Given the description of an element on the screen output the (x, y) to click on. 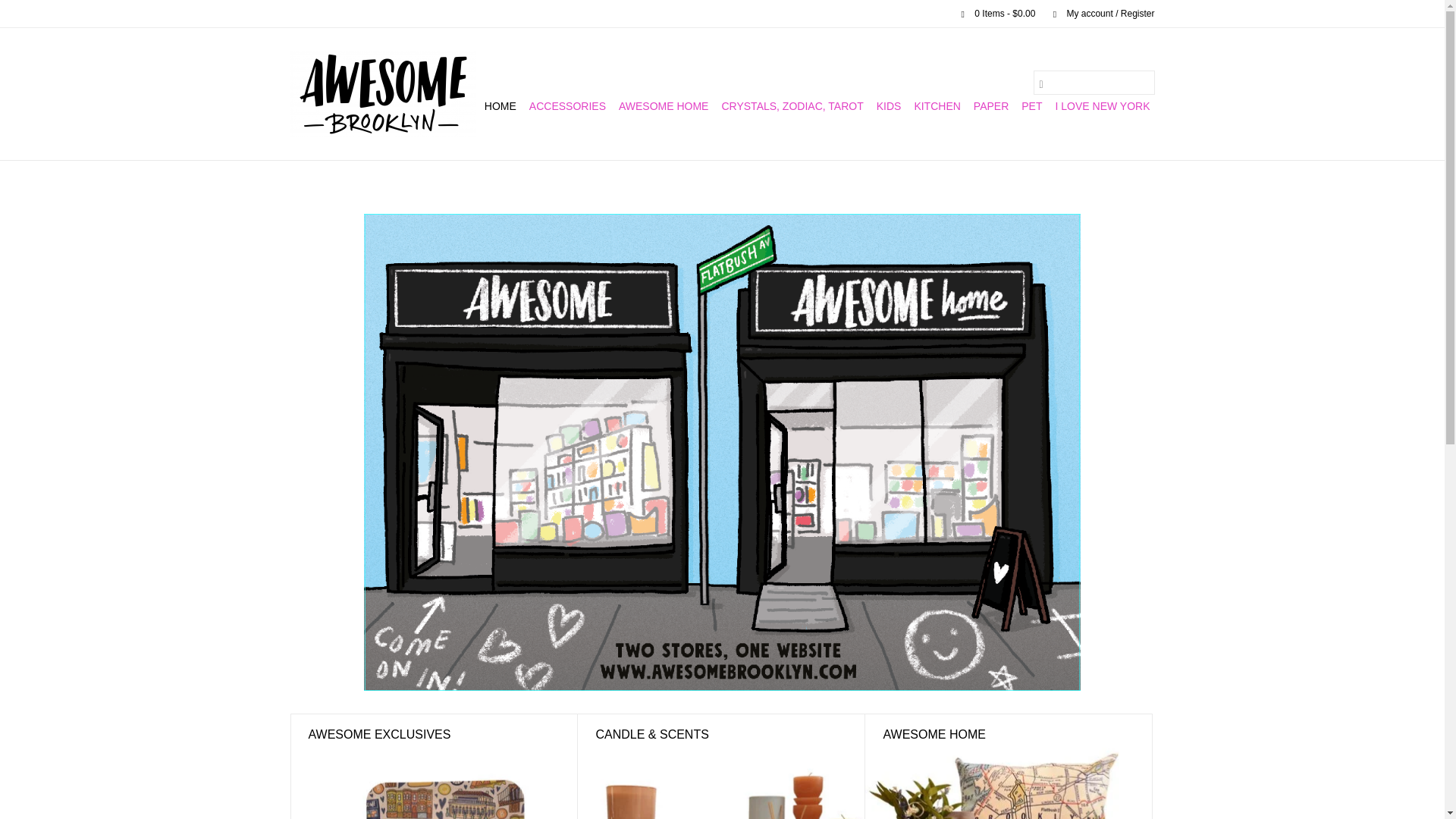
Awesome Brooklyn (382, 93)
Awesome Home (663, 105)
ACCESSORIES (567, 105)
Cart (992, 13)
HOME (500, 105)
My account (1096, 13)
Accessories (567, 105)
AWESOME HOME (663, 105)
CRYSTALS, ZODIAC, TAROT (791, 105)
